Given the description of an element on the screen output the (x, y) to click on. 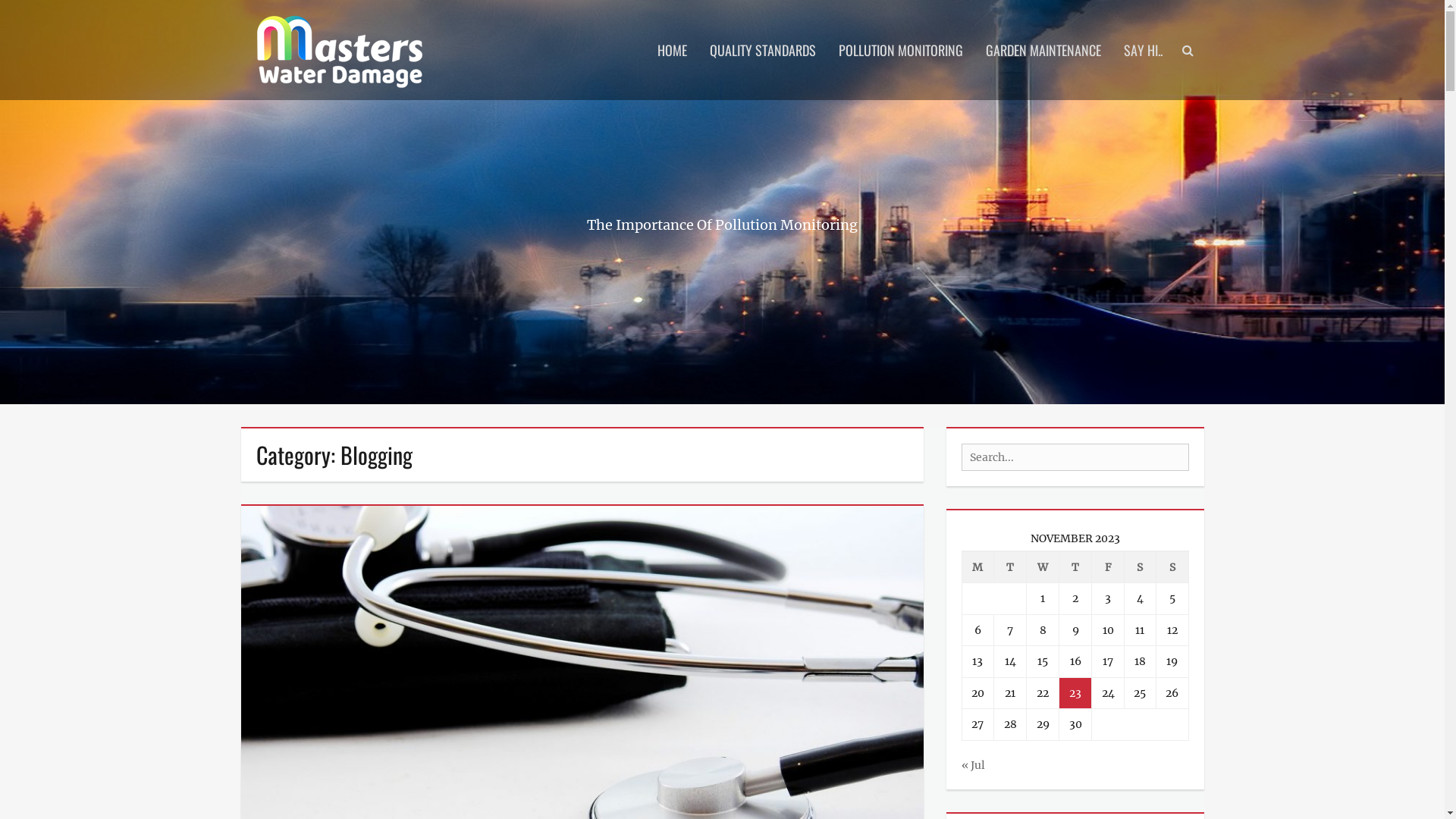
HOME Element type: text (672, 50)
QUALITY STANDARDS Element type: text (761, 50)
Search Element type: text (37, 17)
Search Element type: text (1192, 18)
SAY HI.. Element type: text (1142, 50)
POLLUTION MONITORING Element type: text (899, 50)
MASTERS WATER DAMAGE Element type: text (343, 22)
GARDEN MAINTENANCE Element type: text (1042, 50)
Search for: Element type: hover (1075, 456)
